Given the description of an element on the screen output the (x, y) to click on. 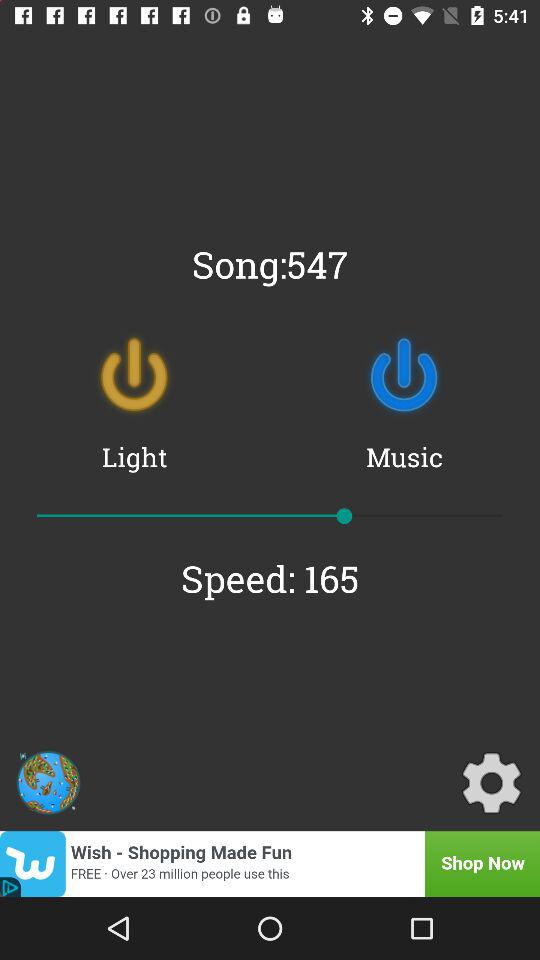
tap item below song:547 item (134, 375)
